Given the description of an element on the screen output the (x, y) to click on. 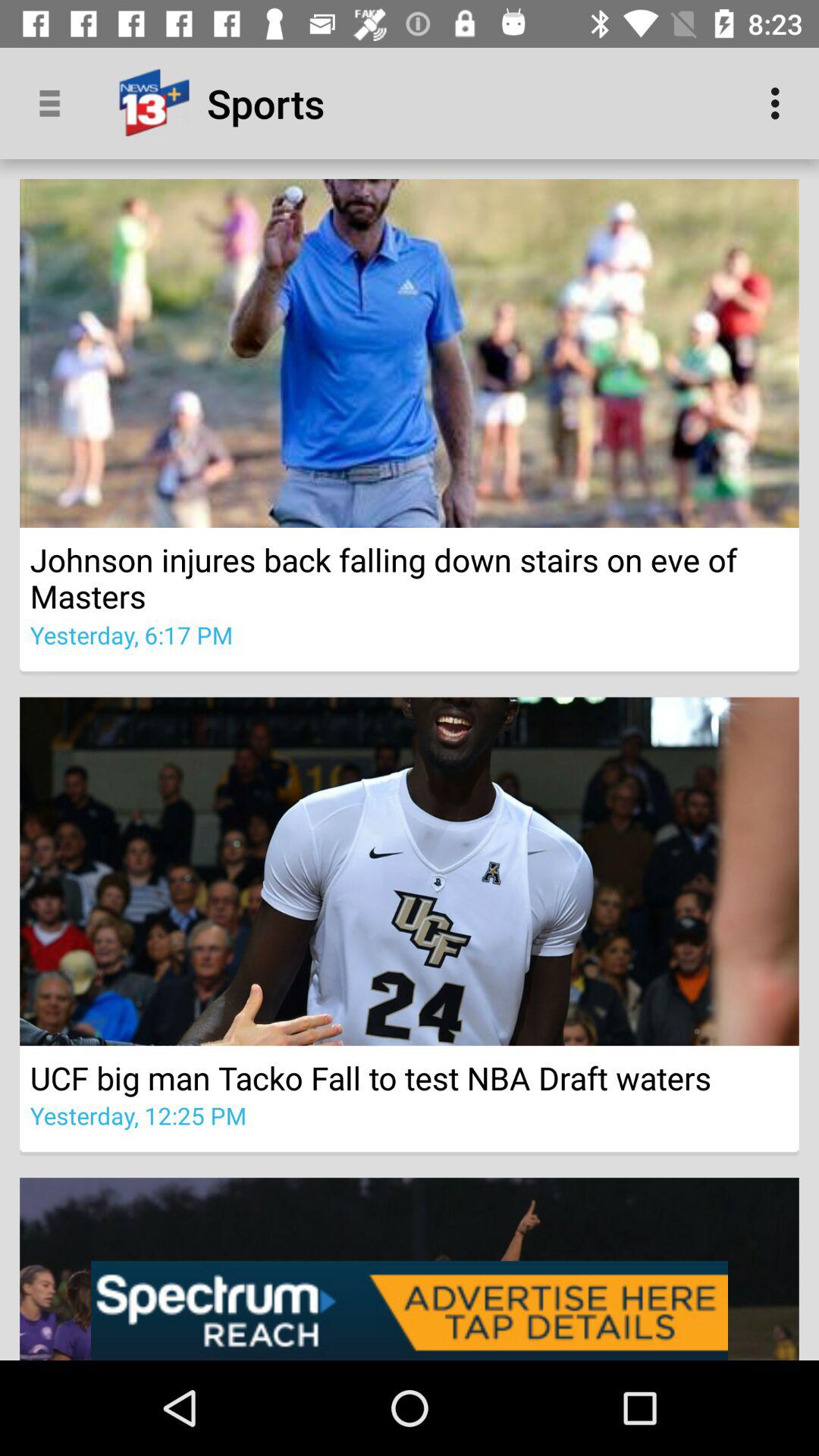
add the option (409, 1310)
